Given the description of an element on the screen output the (x, y) to click on. 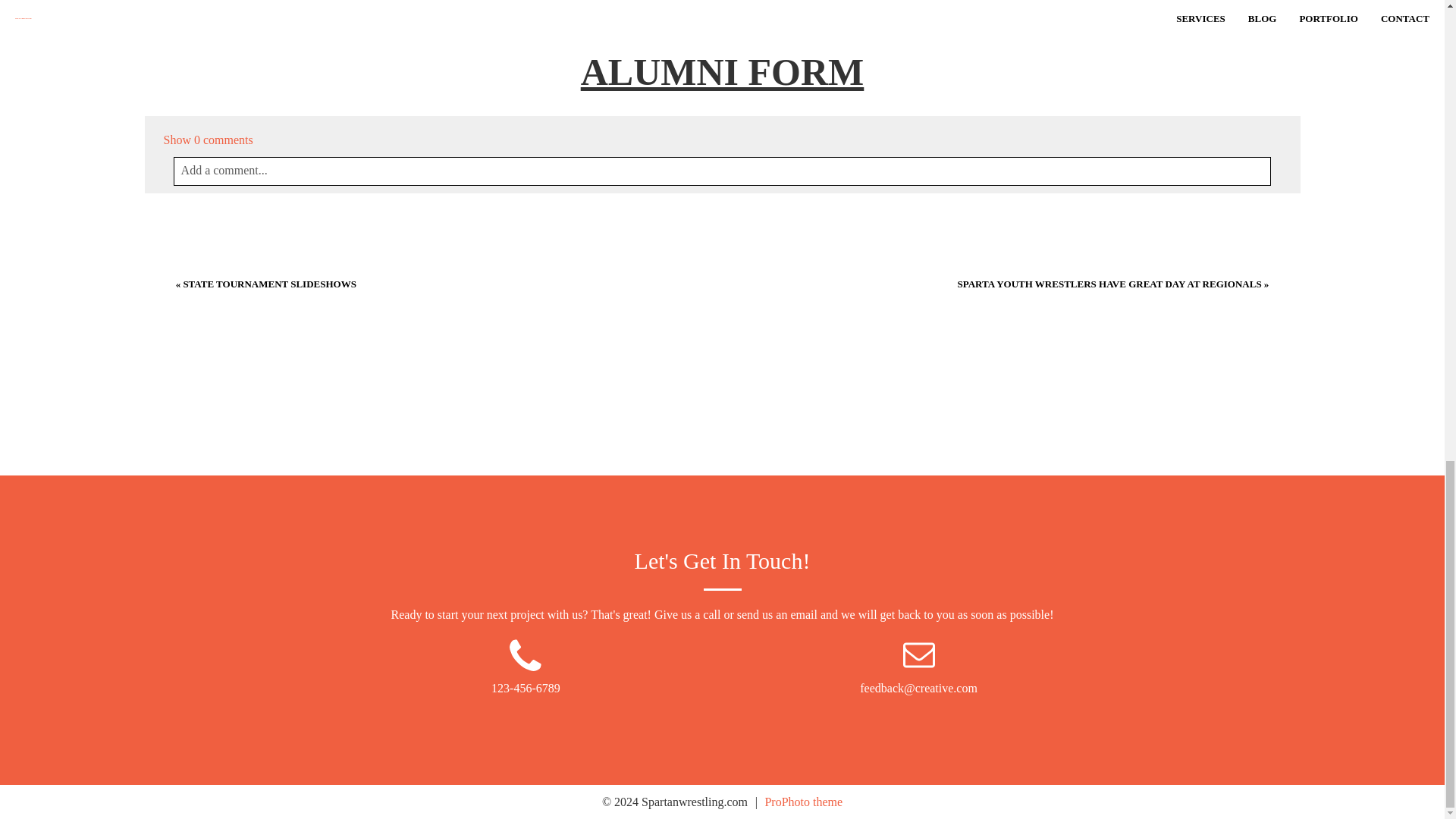
ALUMNI FORM (722, 71)
STATE TOURNAMENT SLIDESHOWS (269, 283)
Show 0 comments (208, 139)
SPARTA YOUTH WRESTLERS HAVE GREAT DAY AT REGIONALS (1110, 283)
ProPhoto Site (803, 801)
ProPhoto theme (803, 801)
